Given the description of an element on the screen output the (x, y) to click on. 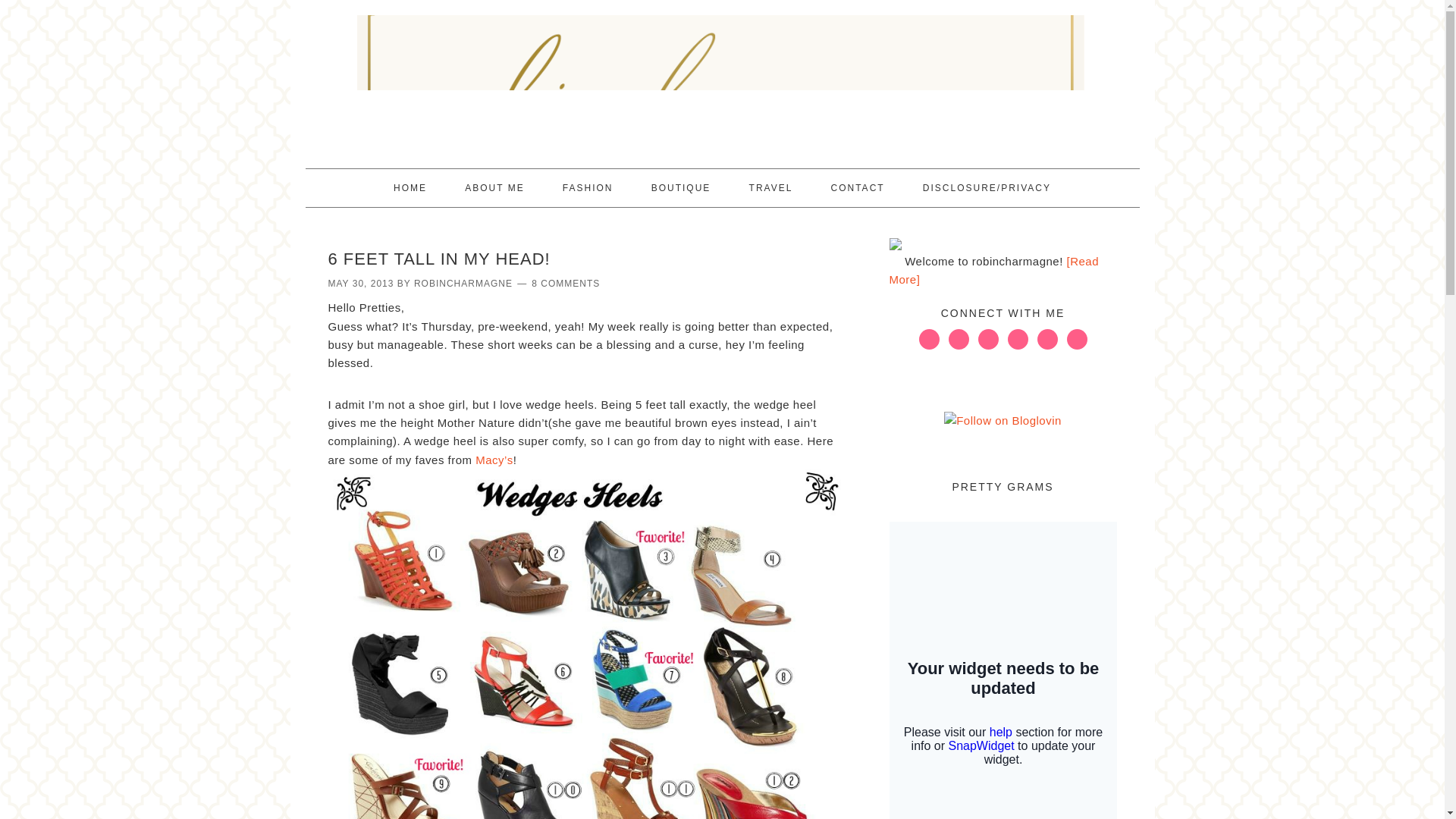
HOME (410, 187)
ROBINCHARMAGNE (462, 283)
6 FEET TALL IN MY HEAD! (438, 258)
TRAVEL (770, 187)
8 COMMENTS (565, 283)
FASHION (588, 187)
ROBINCHARMAGNE (721, 77)
ABOUT ME (494, 187)
BOUTIQUE (681, 187)
Follow robincharmagne on Bloglovin (1002, 420)
CONTACT (857, 187)
